Given the description of an element on the screen output the (x, y) to click on. 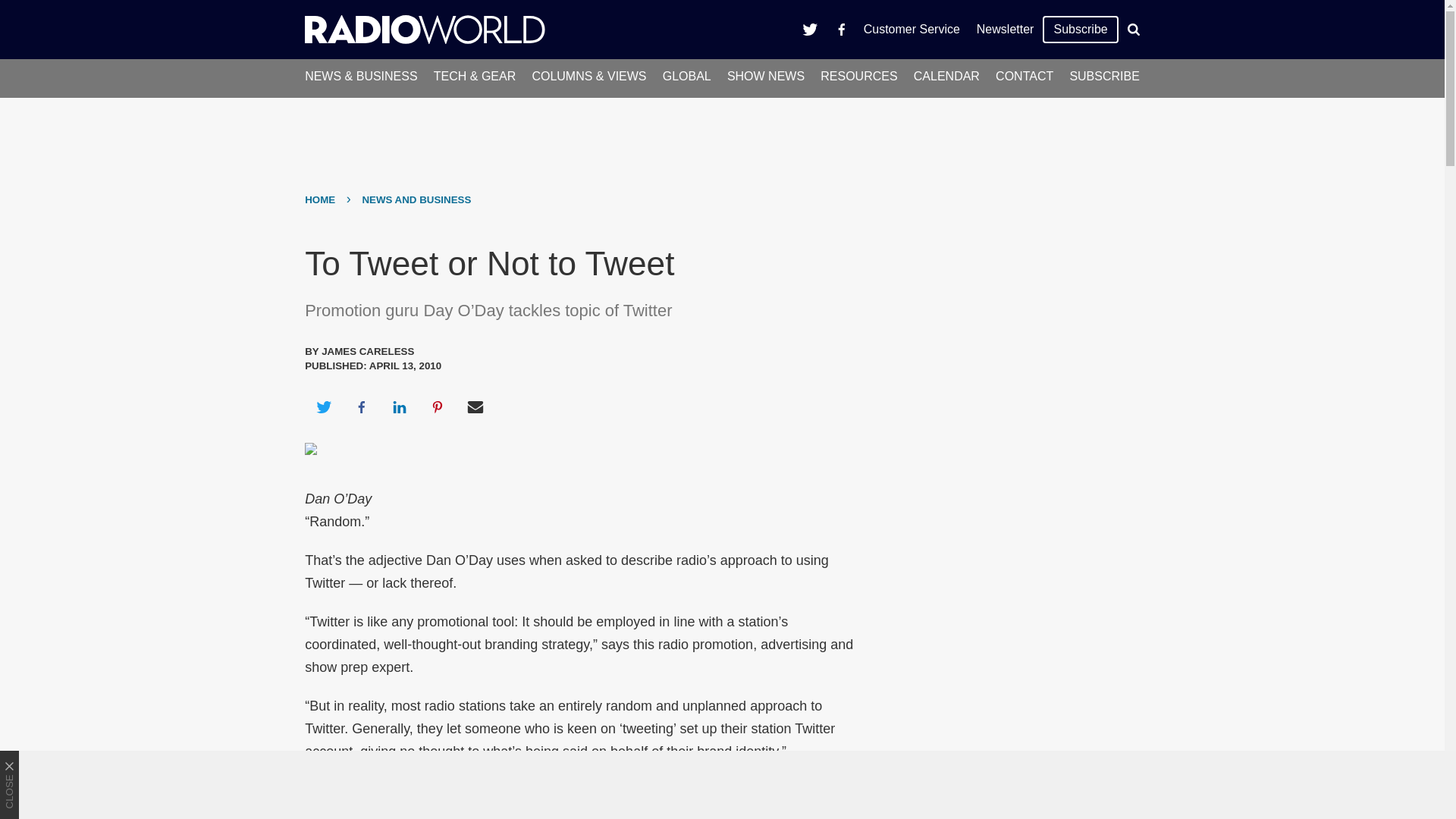
Share on Twitter (323, 406)
Customer Service (912, 29)
Share via Email (476, 406)
Share on LinkedIn (399, 406)
Share on Pinterest (438, 406)
Share on Facebook (361, 406)
